Given the description of an element on the screen output the (x, y) to click on. 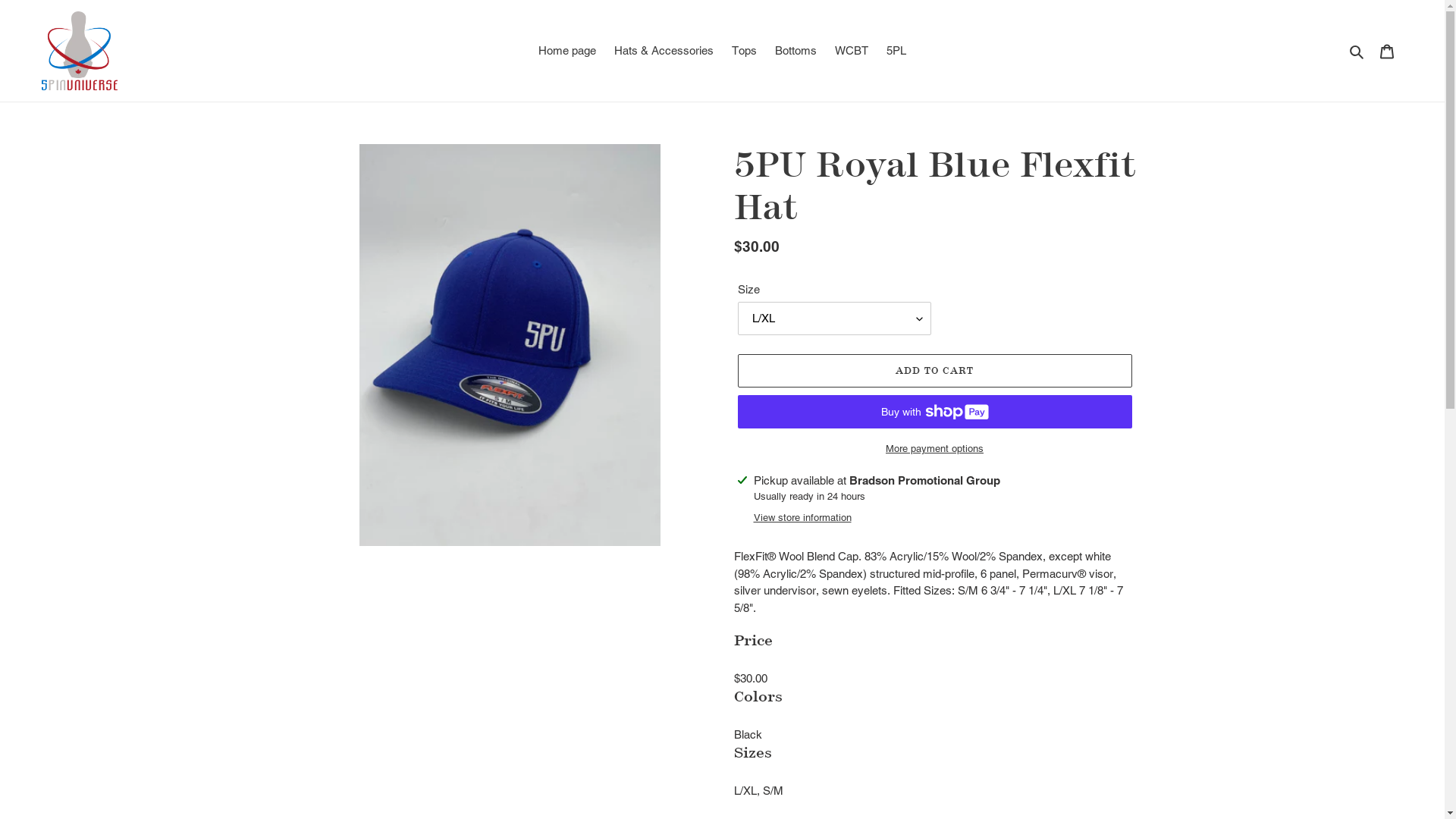
Search Element type: text (1357, 50)
Bottoms Element type: text (795, 51)
View store information Element type: text (802, 517)
5PL Element type: text (895, 51)
More payment options Element type: text (934, 448)
Tops Element type: text (744, 51)
Cart Element type: text (1386, 50)
WCBT Element type: text (851, 51)
Home page Element type: text (566, 51)
ADD TO CART Element type: text (934, 370)
Hats & Accessories Element type: text (663, 51)
